Given the description of an element on the screen output the (x, y) to click on. 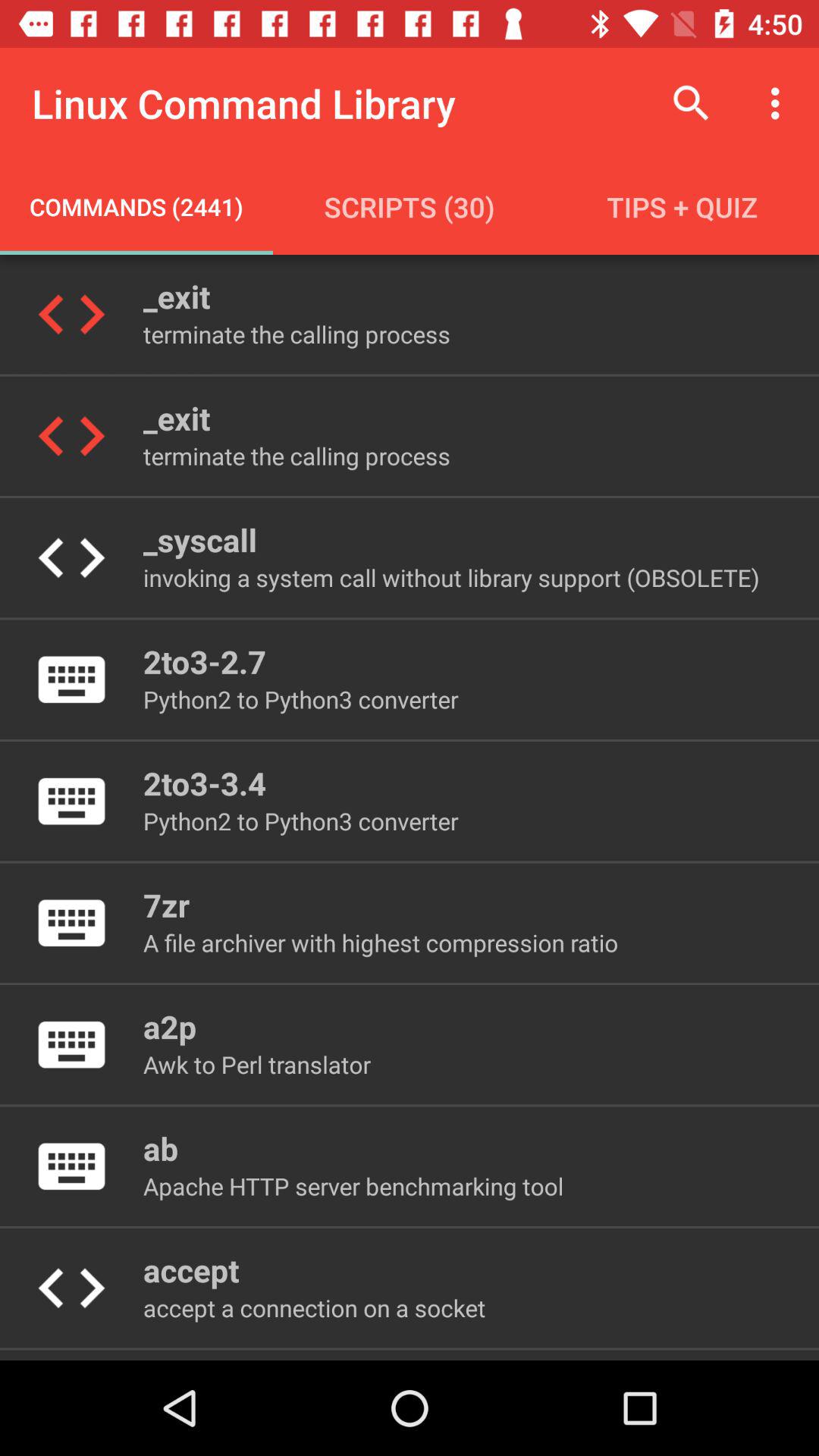
choose item above the ab icon (256, 1064)
